Given the description of an element on the screen output the (x, y) to click on. 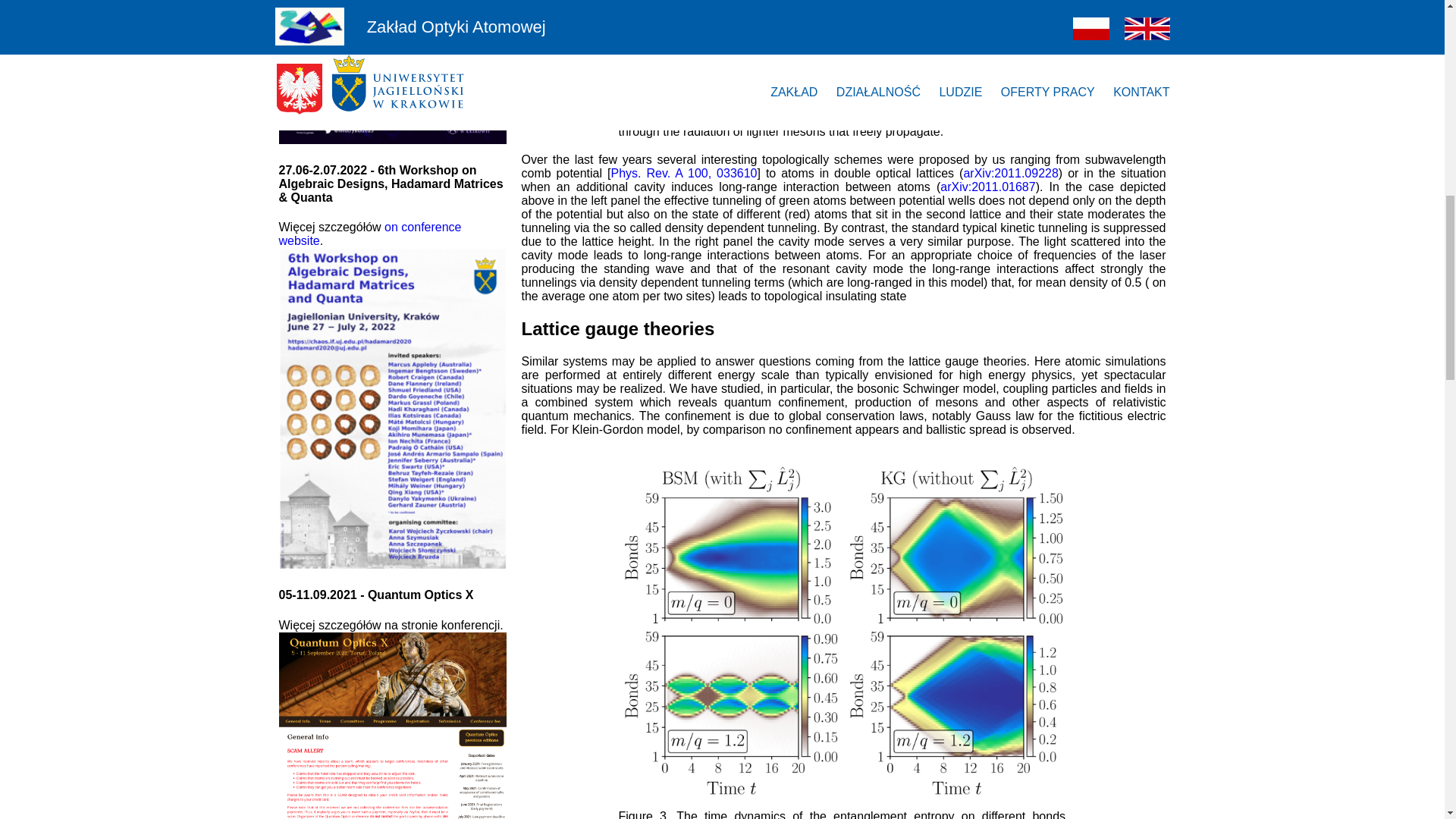
arXiv:2011.09228 (1010, 173)
on conference website (370, 233)
Phys. Rev. A 100, 033610 (683, 173)
na stronie konferencji (441, 625)
arXiv:2011.01687 (987, 186)
